Given the description of an element on the screen output the (x, y) to click on. 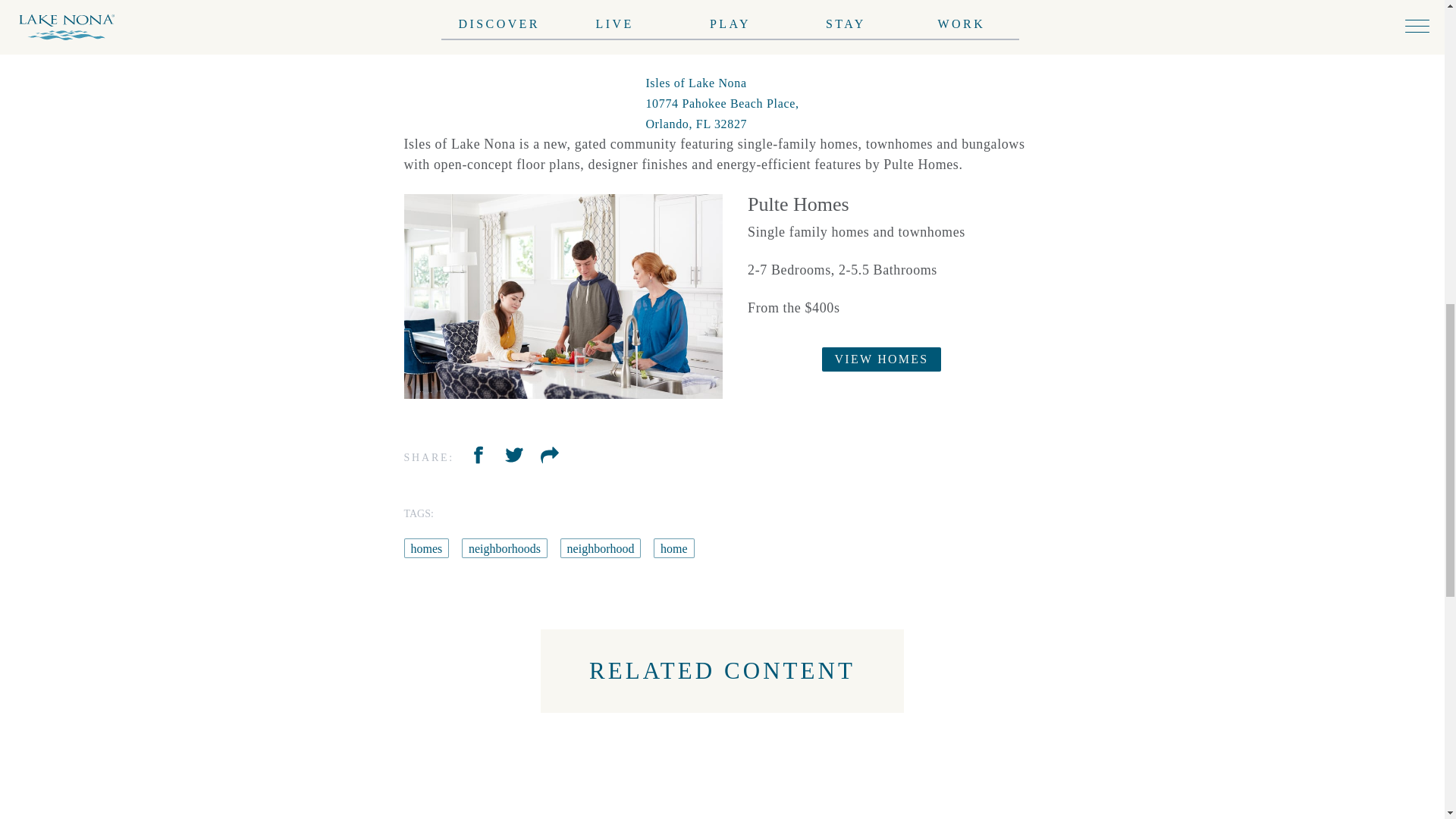
Isles of Lake Nona (721, 103)
homes (425, 547)
home (673, 547)
VIEW HOMES (882, 359)
neighborhood (601, 547)
Isles of Lake Nona 1 (562, 296)
neighborhoods (504, 547)
